Given the description of an element on the screen output the (x, y) to click on. 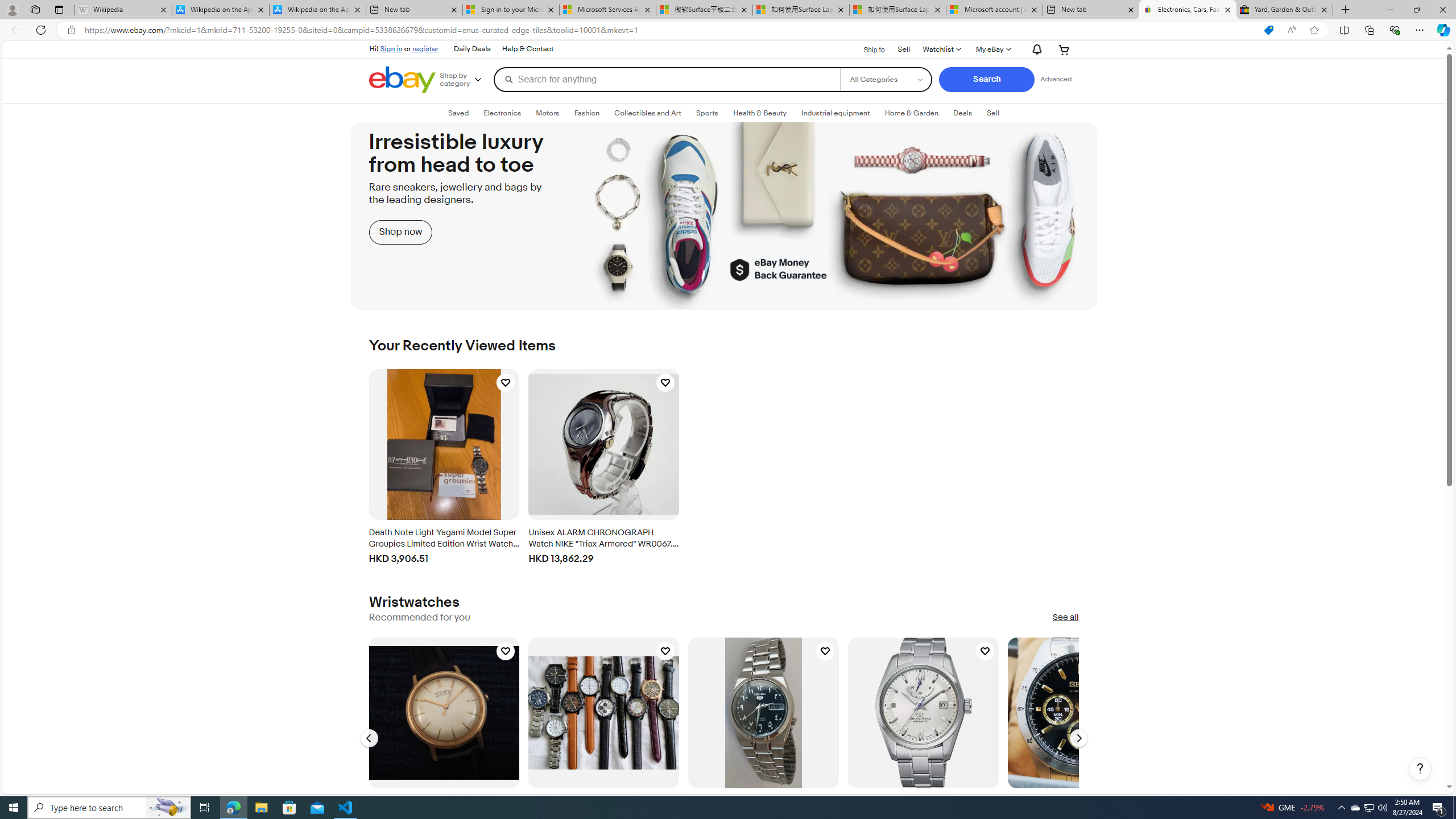
Microsoft account | Account Checkup (994, 9)
Electronics (502, 112)
Wikipedia - Sleeping (122, 9)
Help & Contact (527, 49)
FashionExpand: Fashion (586, 112)
NEW Seiko 5 Men's Automatic Watch with Arabic Dial New (763, 712)
